Given the description of an element on the screen output the (x, y) to click on. 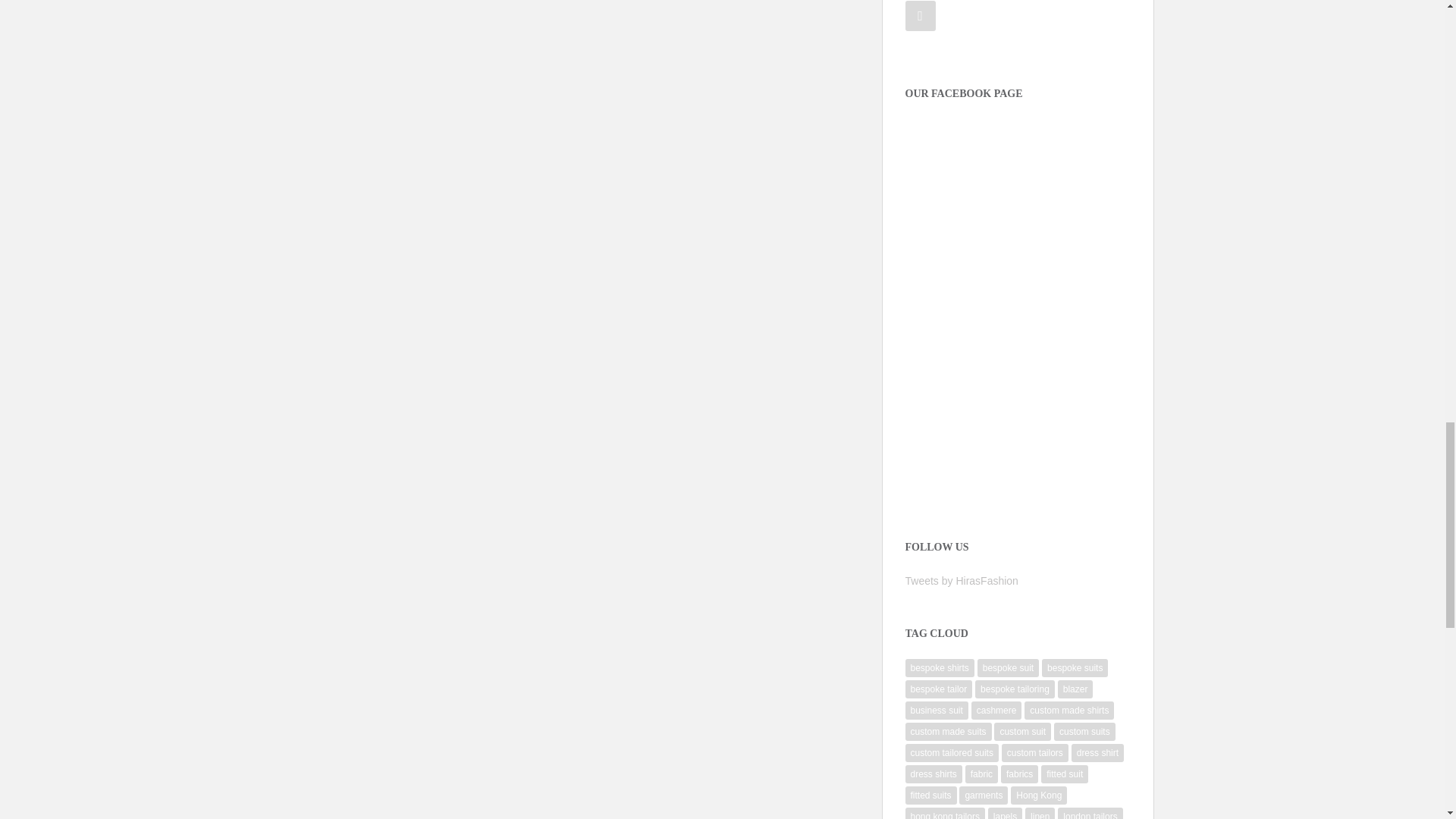
Instagram (920, 15)
